Given the description of an element on the screen output the (x, y) to click on. 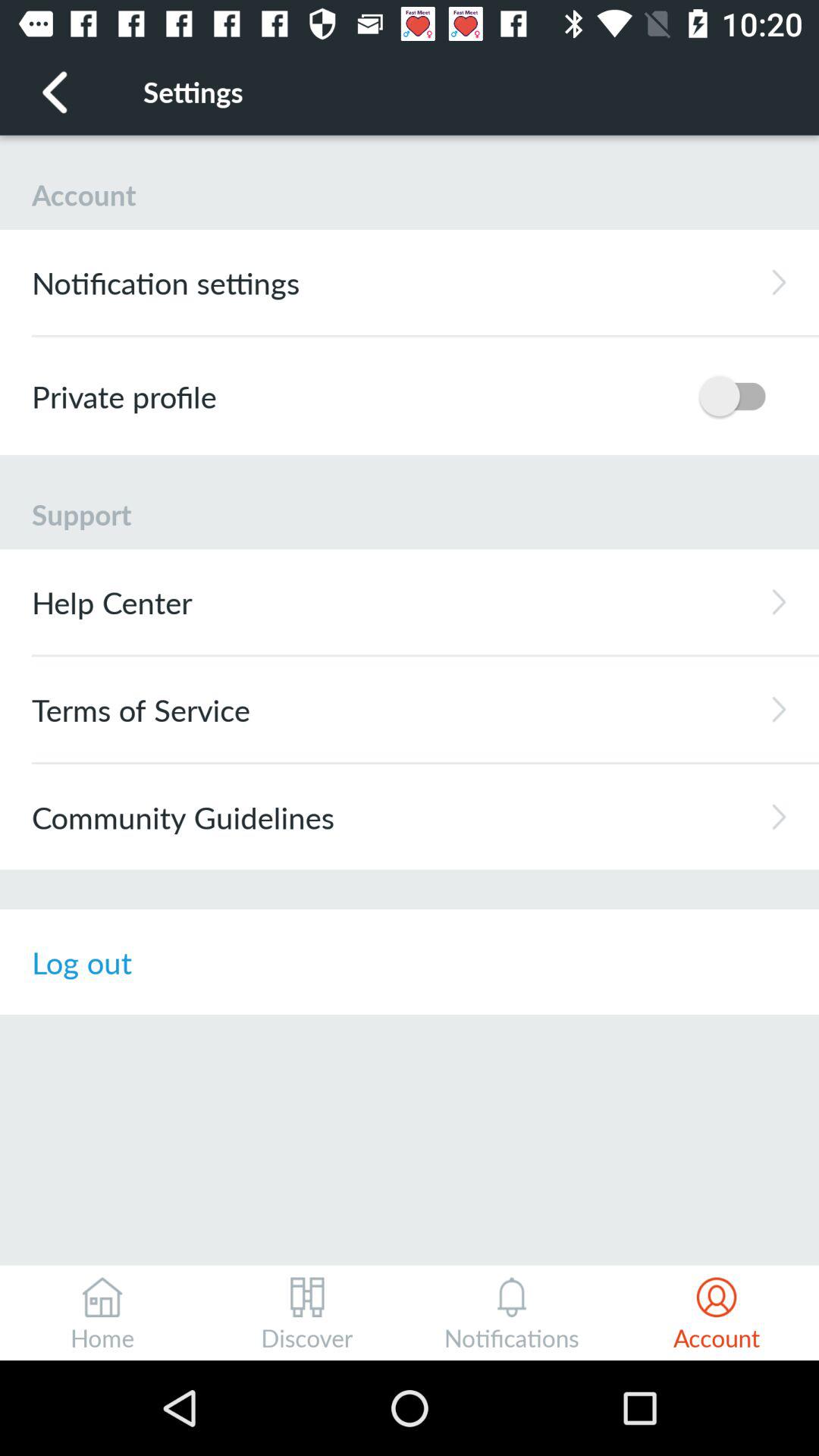
turn off the icon to the left of the settings icon (55, 91)
